Given the description of an element on the screen output the (x, y) to click on. 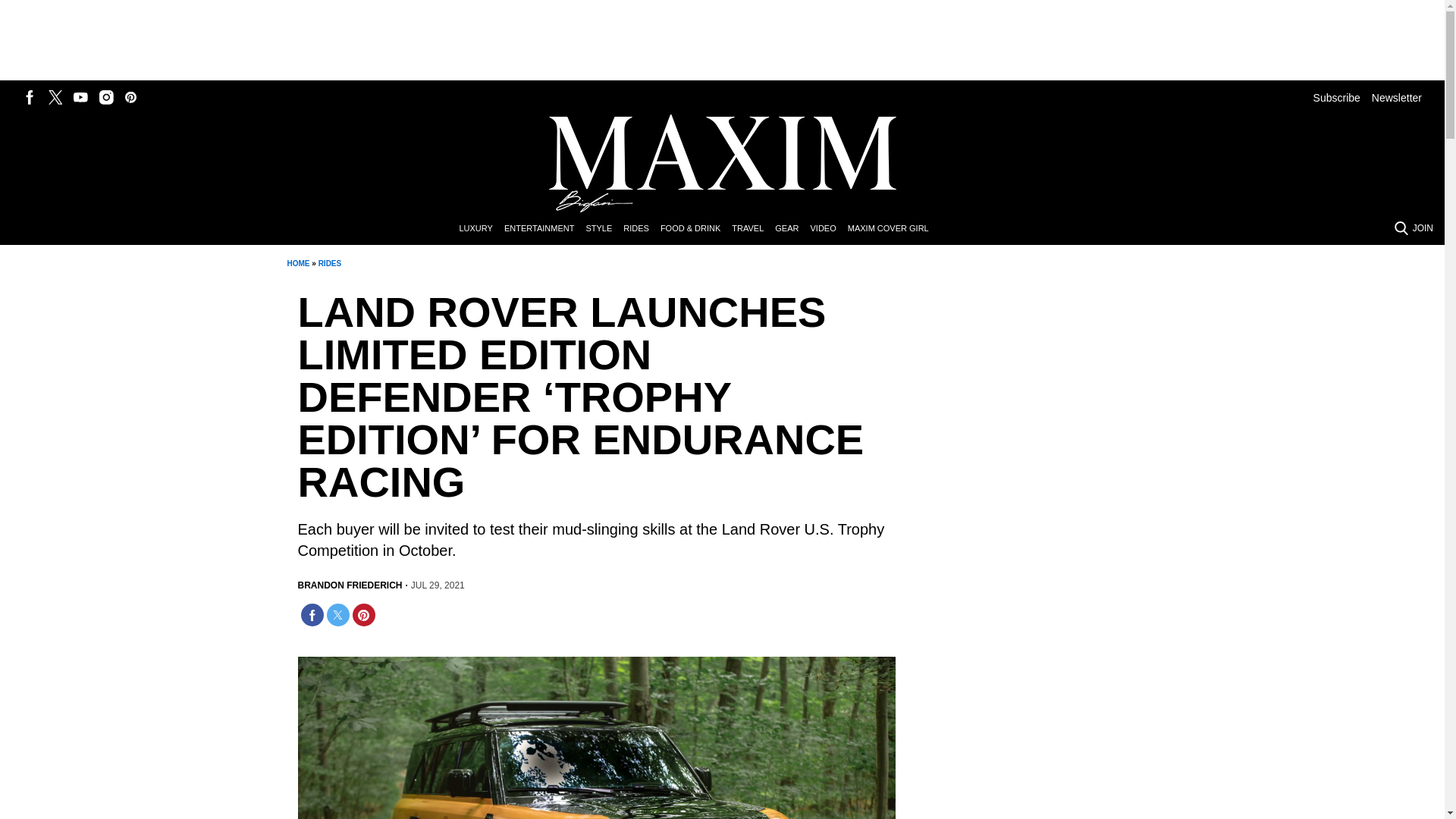
RIDES (330, 263)
LUXURY (480, 228)
Share on Twitter (337, 614)
Subscribe (1336, 97)
Follow us on Twitter (55, 97)
BRANDON FRIEDERICH (349, 585)
Follow us on Facebook (30, 97)
JOIN (1422, 228)
RIDES (642, 228)
ENTERTAINMENT (544, 228)
